Given the description of an element on the screen output the (x, y) to click on. 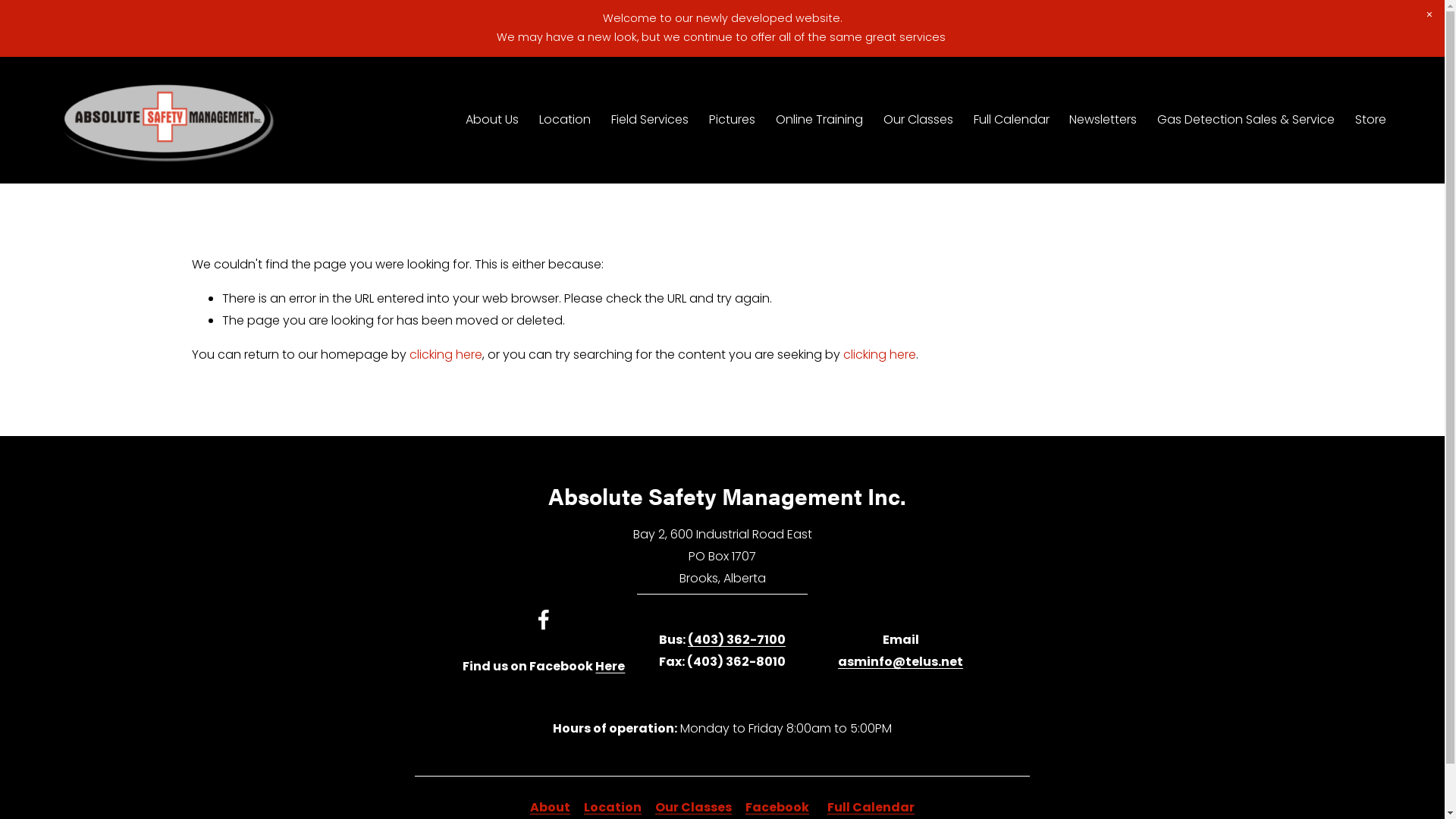
Store Element type: text (1370, 120)
clicking here Element type: text (879, 354)
Full Calendar Element type: text (1011, 120)
asminfo@telus.net Element type: text (900, 662)
Field Services Element type: text (649, 120)
Here Element type: text (609, 666)
About Us Element type: text (491, 120)
Online Training Element type: text (818, 120)
Pictures Element type: text (732, 120)
(403) 362-7100 Element type: text (736, 640)
clicking here Element type: text (445, 354)
Our Classes Element type: text (918, 120)
Newsletters Element type: text (1102, 120)
Gas Detection Sales & Service Element type: text (1245, 120)
Location Element type: text (564, 120)
